Given the description of an element on the screen output the (x, y) to click on. 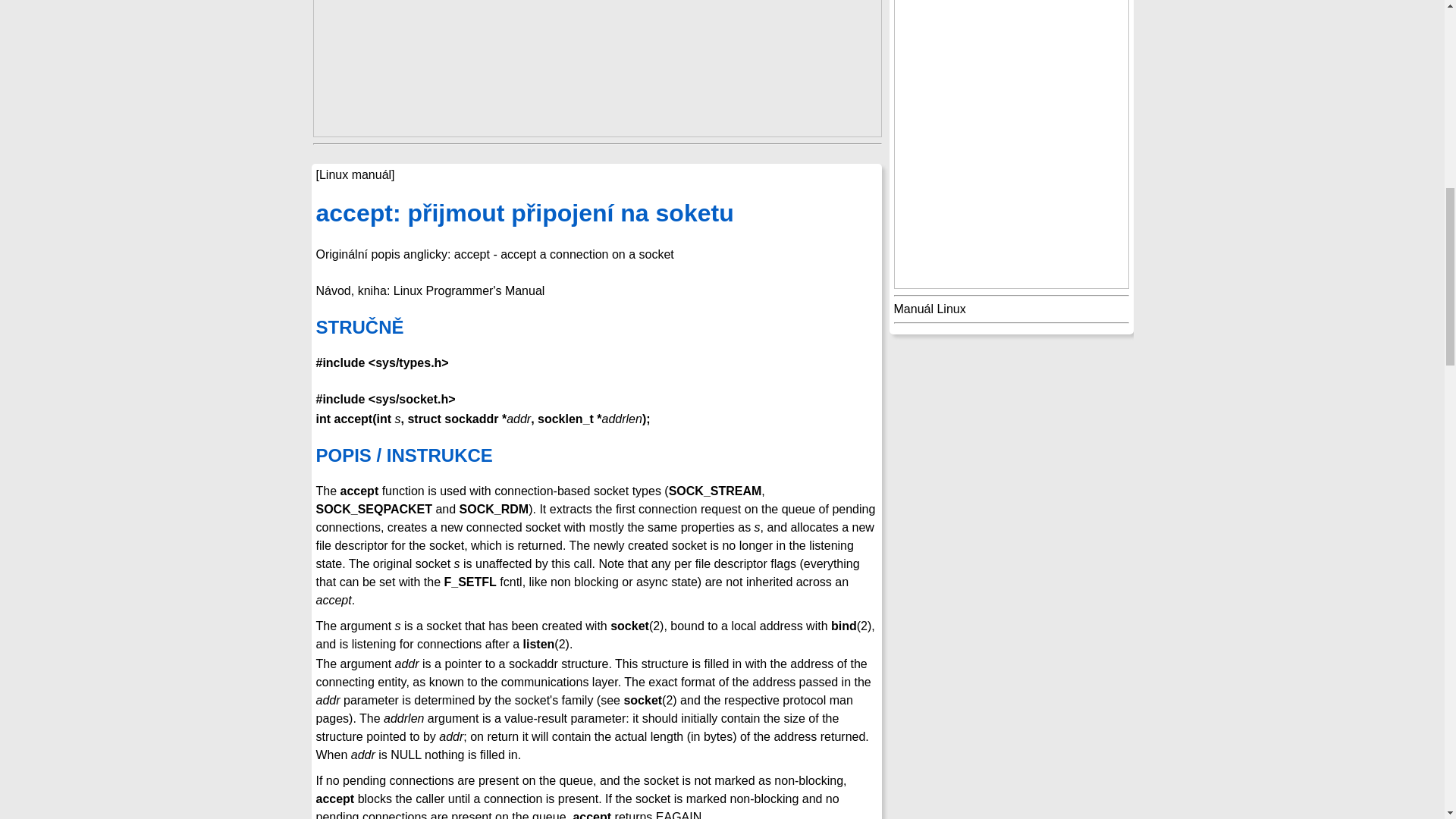
Sh (595, 454)
Sh (595, 214)
Sh (595, 327)
